Given the description of an element on the screen output the (x, y) to click on. 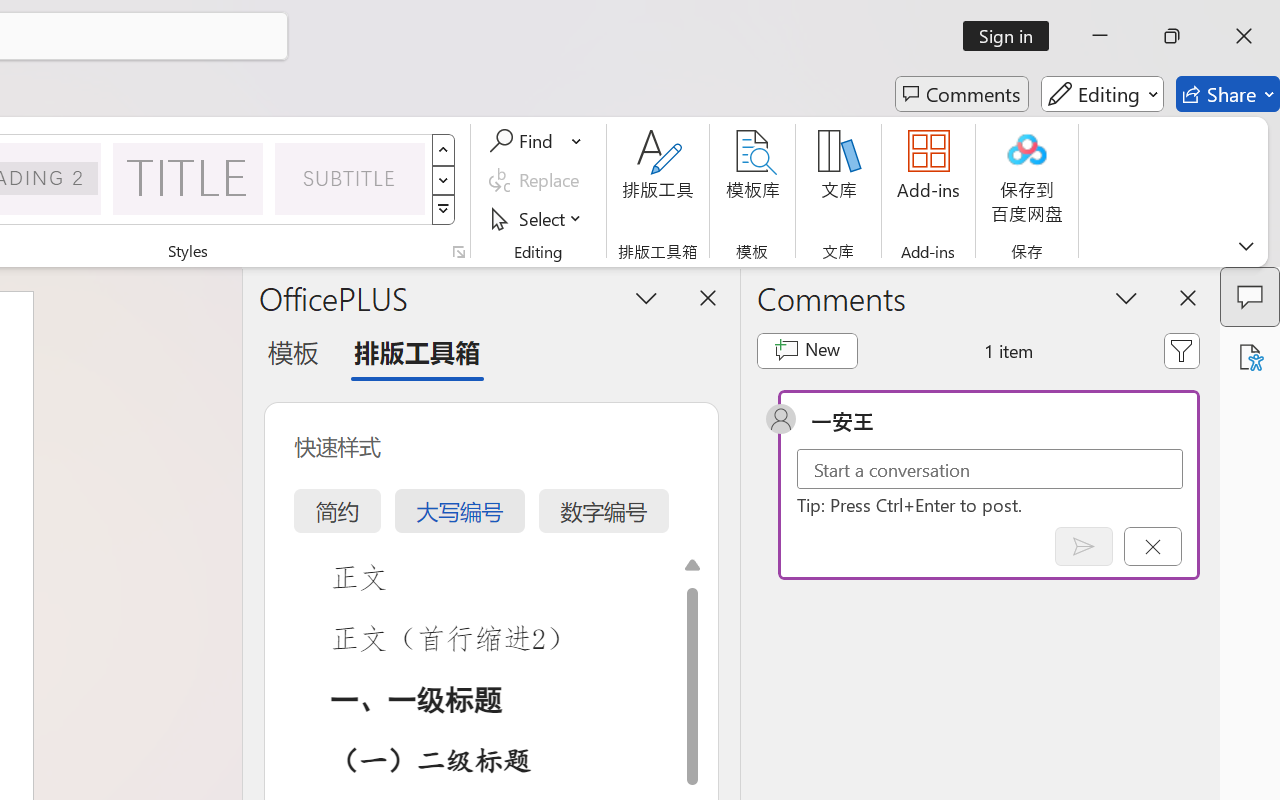
New comment (806, 350)
Editing (1101, 94)
Accessibility Assistant (1249, 357)
Subtitle (349, 178)
Cancel (1152, 546)
